Given the description of an element on the screen output the (x, y) to click on. 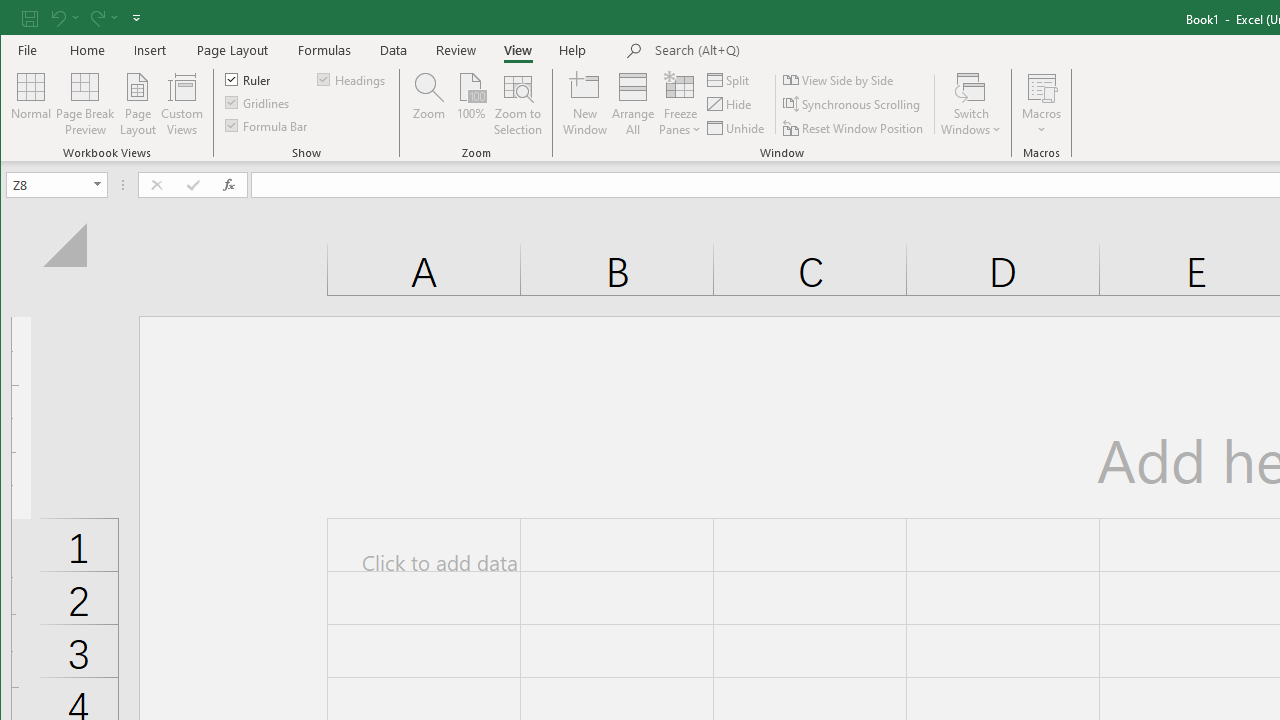
Help (573, 50)
Name Box (56, 184)
Save (29, 17)
100% (470, 104)
Unhide... (737, 127)
Page Layout (231, 50)
View (518, 50)
Redo (96, 17)
Redo (102, 17)
More Options (1041, 123)
Undo (63, 17)
Open (98, 184)
View Macros (1041, 86)
File Tab (28, 49)
Gridlines (258, 101)
